Given the description of an element on the screen output the (x, y) to click on. 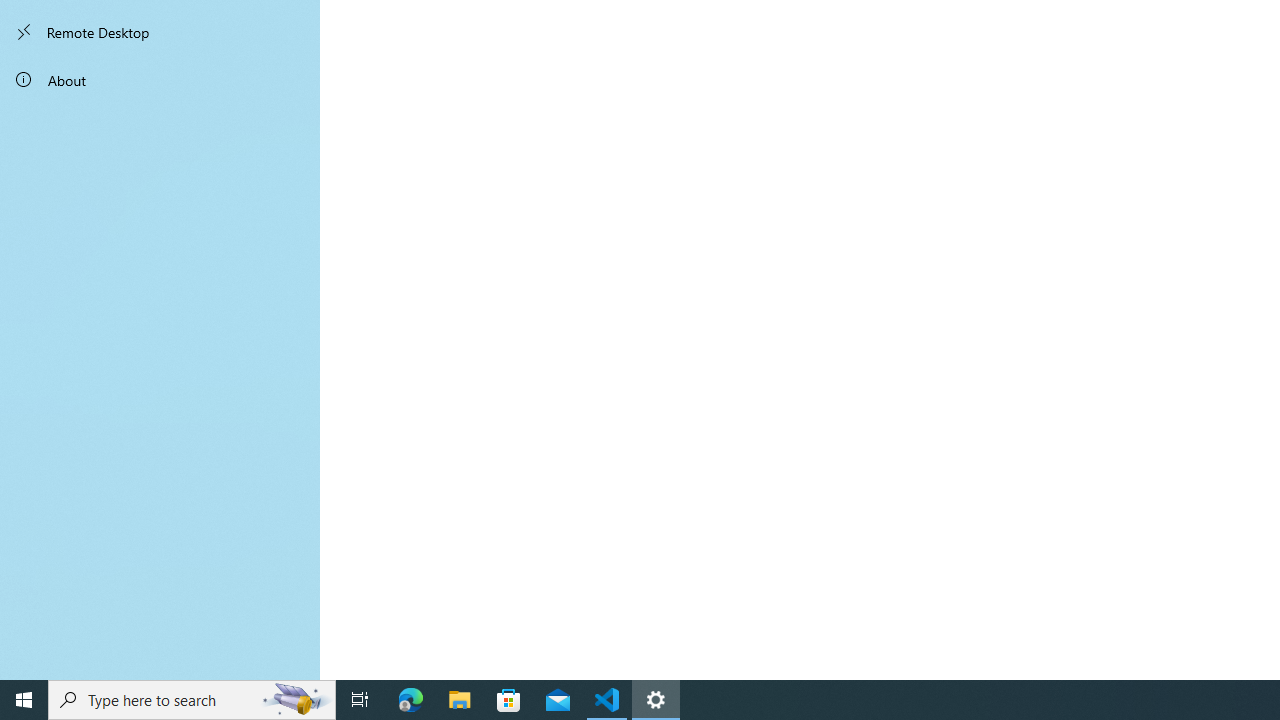
File Explorer (460, 699)
Microsoft Edge (411, 699)
Settings - 1 running window (656, 699)
Microsoft Store (509, 699)
About (160, 79)
Type here to search (191, 699)
Remote Desktop (160, 31)
Search highlights icon opens search home window (295, 699)
Start (24, 699)
Task View (359, 699)
Visual Studio Code - 1 running window (607, 699)
